Given the description of an element on the screen output the (x, y) to click on. 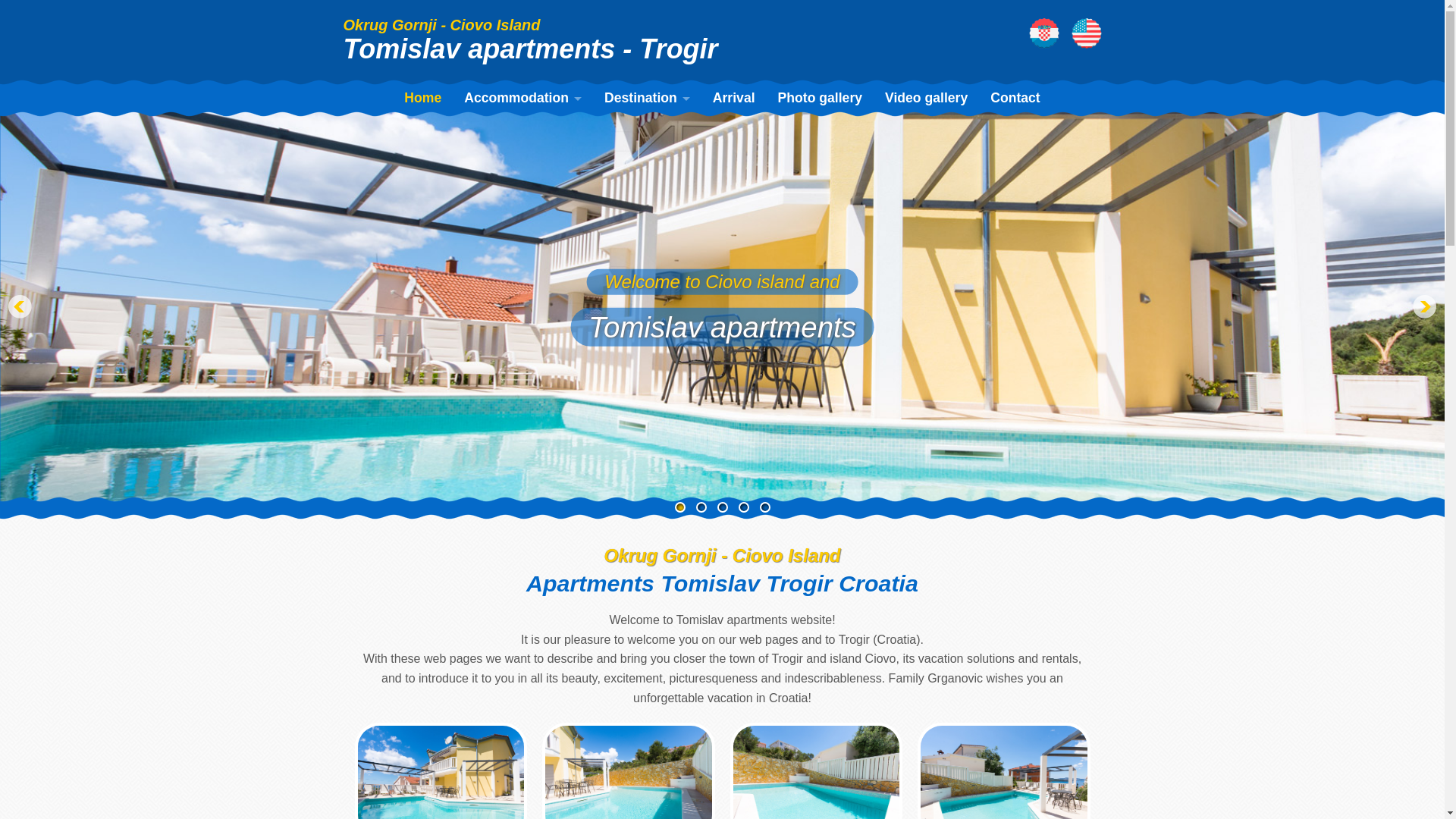
4 (743, 507)
5 (765, 507)
Arrival (734, 98)
Contact (1014, 98)
Destination (646, 98)
Video gallery (925, 98)
Ciovo Island (646, 151)
2 (700, 507)
Croatia (646, 178)
Trogir Croatia (646, 125)
Photo gallery (820, 98)
Apartment A6 (522, 259)
3 (722, 507)
1 (680, 507)
Accommodation (522, 98)
